Given the description of an element on the screen output the (x, y) to click on. 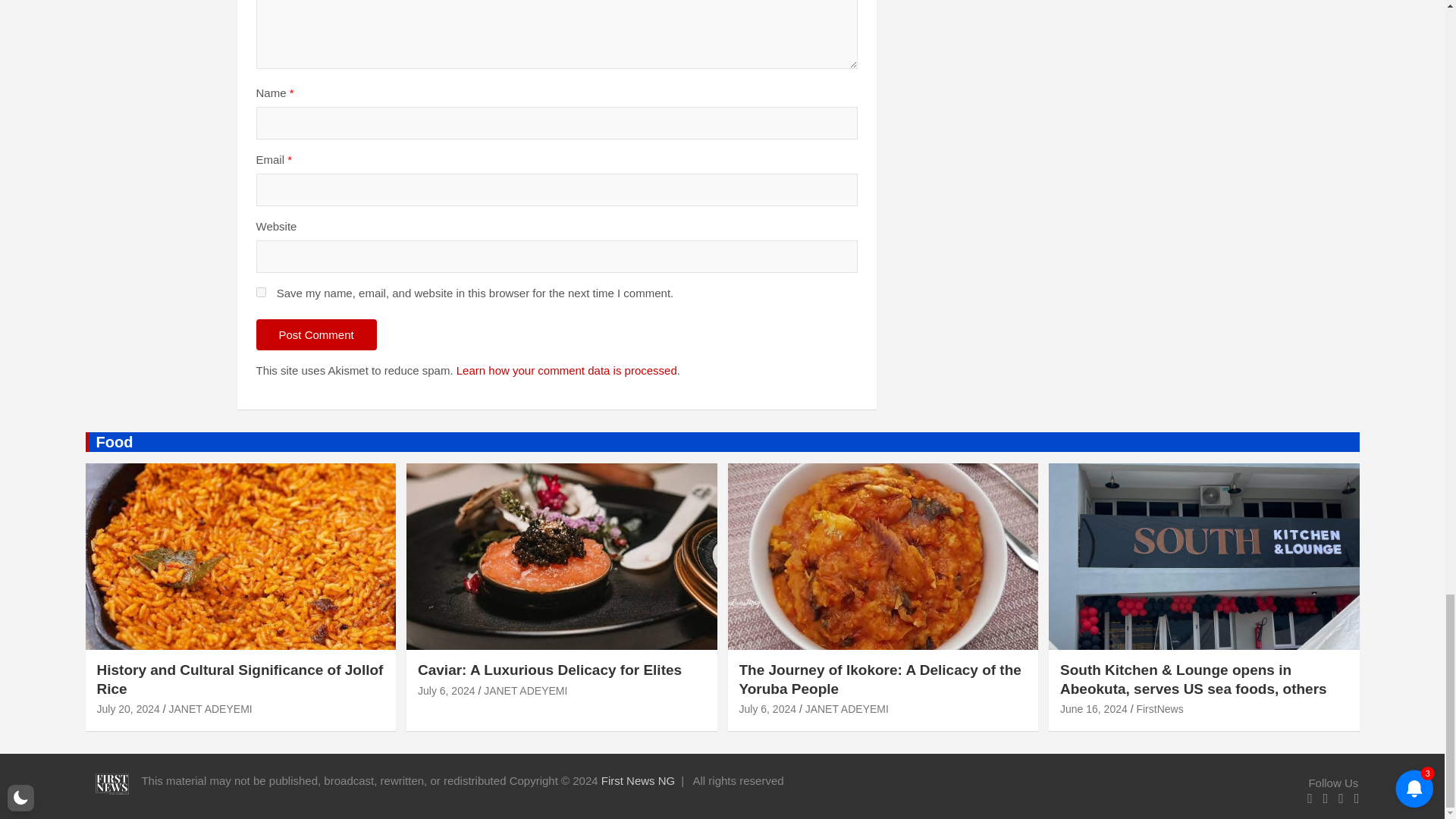
History and Cultural Significance of Jollof Rice (128, 708)
Caviar: A Luxurious Delicacy for Elites (446, 690)
First News NG (638, 780)
yes (261, 292)
Post Comment (316, 334)
Post Comment (316, 334)
The Journey of Ikokore: A Delicacy of the Yoruba People (767, 708)
